Given the description of an element on the screen output the (x, y) to click on. 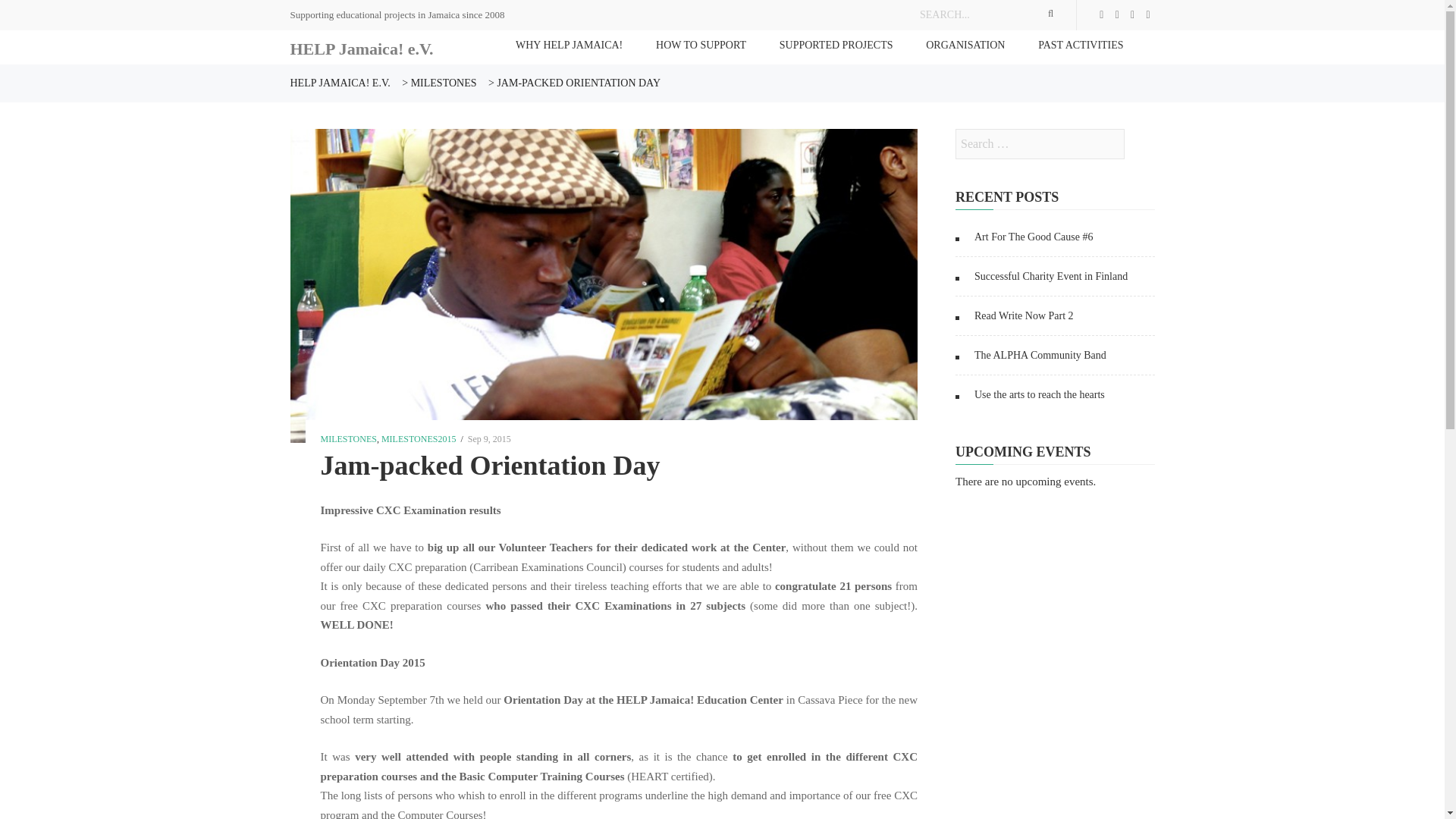
Go to the Milestones Category archives. (443, 82)
Search (1139, 142)
Go to HELP Jamaica! e.V.. (339, 82)
Search (1139, 142)
View all posts in Milestones2015 (418, 439)
View all posts in Milestones (347, 439)
